Given the description of an element on the screen output the (x, y) to click on. 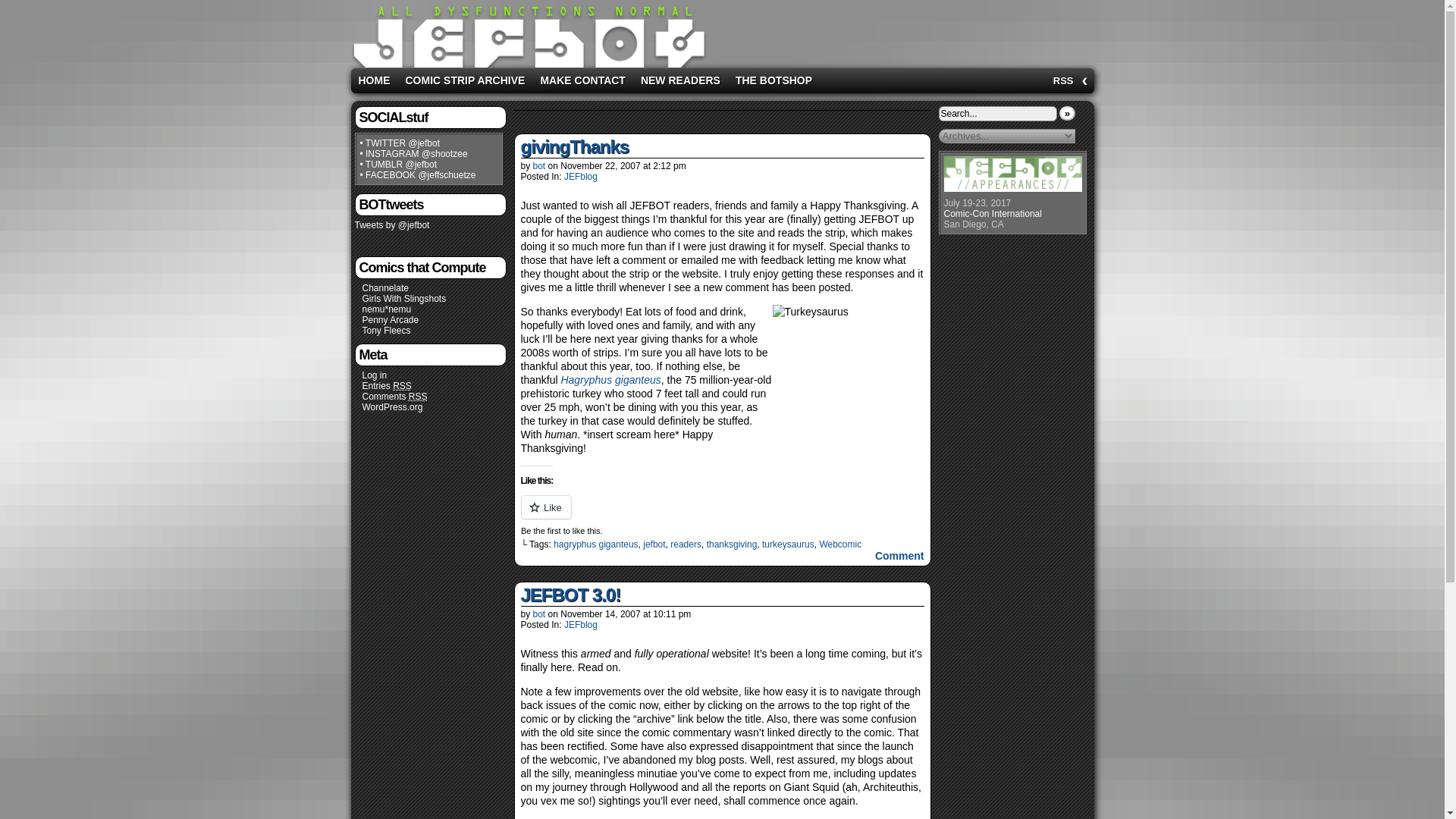
hagryphus giganteus (595, 543)
Really Simple Syndication (402, 386)
Advertisement (899, 31)
givingThanks (573, 147)
Girls With Slingshots (404, 298)
MAKE CONTACT (582, 80)
Webcomic (839, 543)
THE BOTSHOP (773, 80)
HOME (373, 80)
Log in (374, 375)
Channelate (385, 287)
bot (539, 165)
readers (685, 543)
JEFBOT 3.0! (569, 595)
WordPress.org (392, 407)
